Given the description of an element on the screen output the (x, y) to click on. 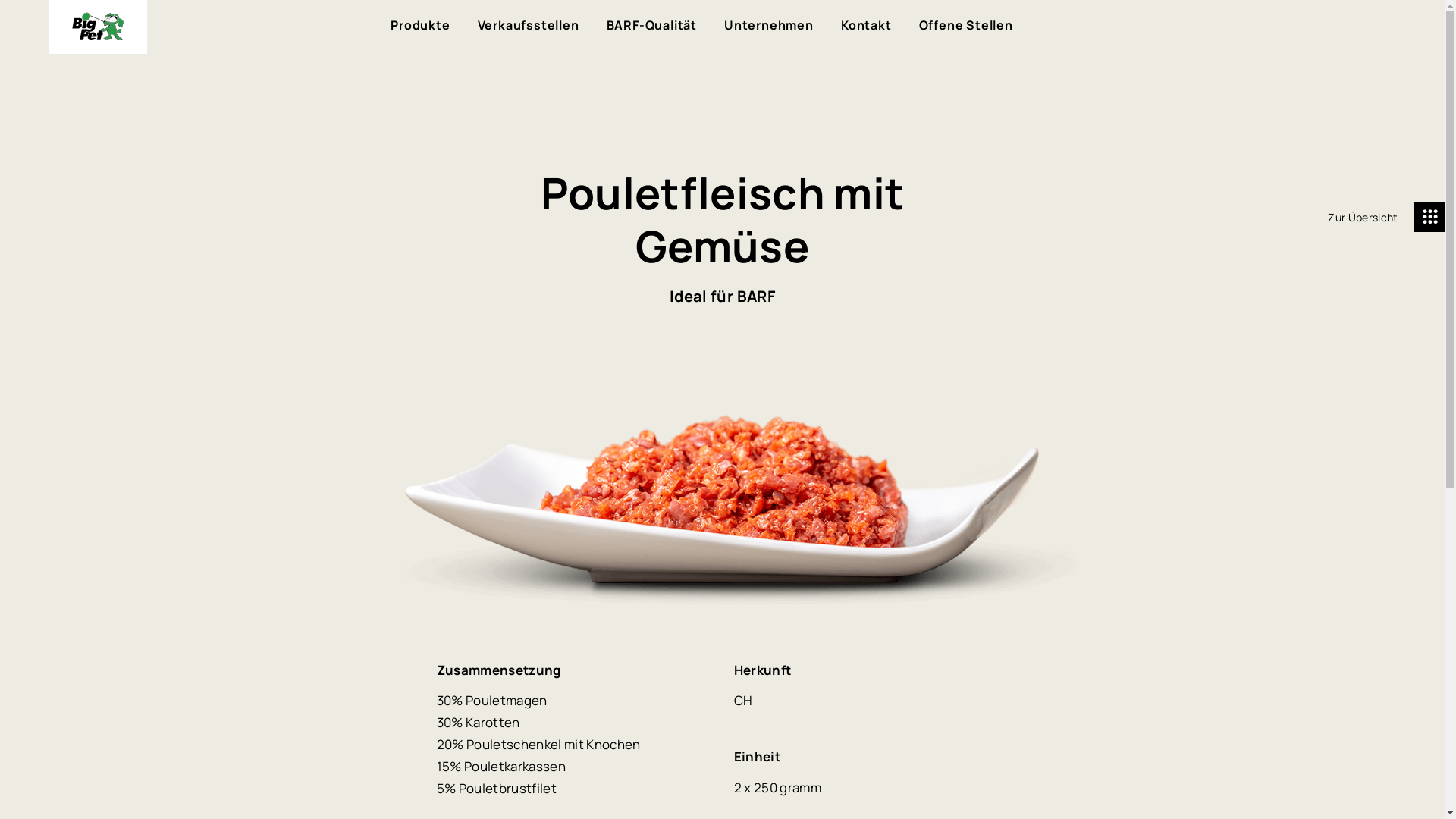
Kontakt Element type: text (865, 25)
Unternehmen Element type: text (768, 25)
Verkaufsstellen Element type: text (528, 25)
Offene Stellen Element type: text (966, 25)
Produkte Element type: text (419, 25)
